Given the description of an element on the screen output the (x, y) to click on. 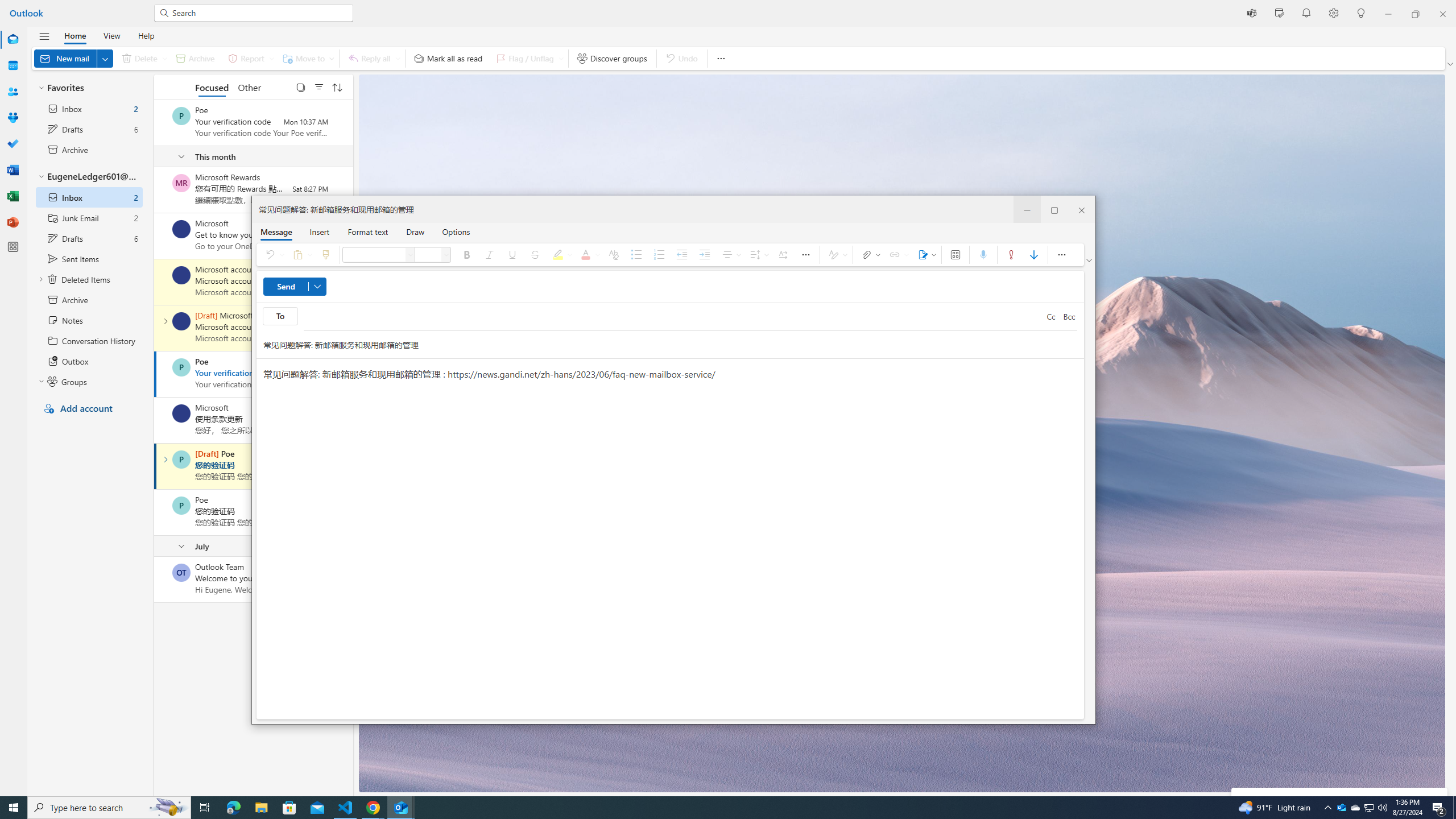
Home (74, 35)
Spacing (757, 254)
Hide navigation pane (44, 36)
More send options (317, 286)
Flag / Unflag (527, 58)
Groups (12, 118)
Poe (180, 505)
Font size (427, 254)
To (280, 316)
Expand to see more New options (104, 58)
Apps (954, 254)
Cc (1050, 316)
Insert (319, 231)
Format text (368, 231)
Styles (836, 254)
